Given the description of an element on the screen output the (x, y) to click on. 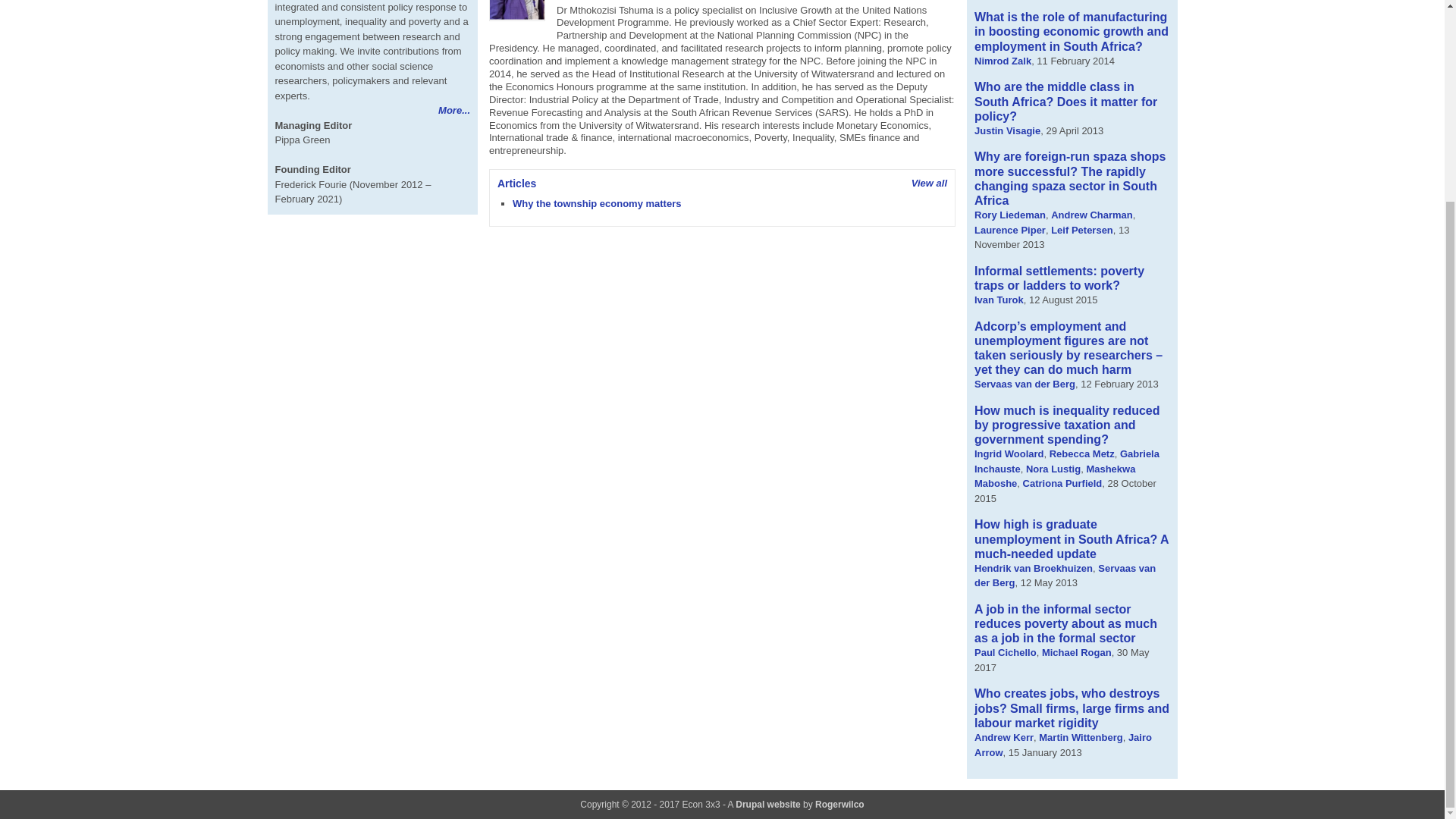
View all (929, 183)
Nimrod Zalk (1002, 60)
Why the township economy matters (596, 203)
Justin Visagie (1007, 130)
Mthokozisi Tshuma (516, 10)
More... (454, 110)
